Given the description of an element on the screen output the (x, y) to click on. 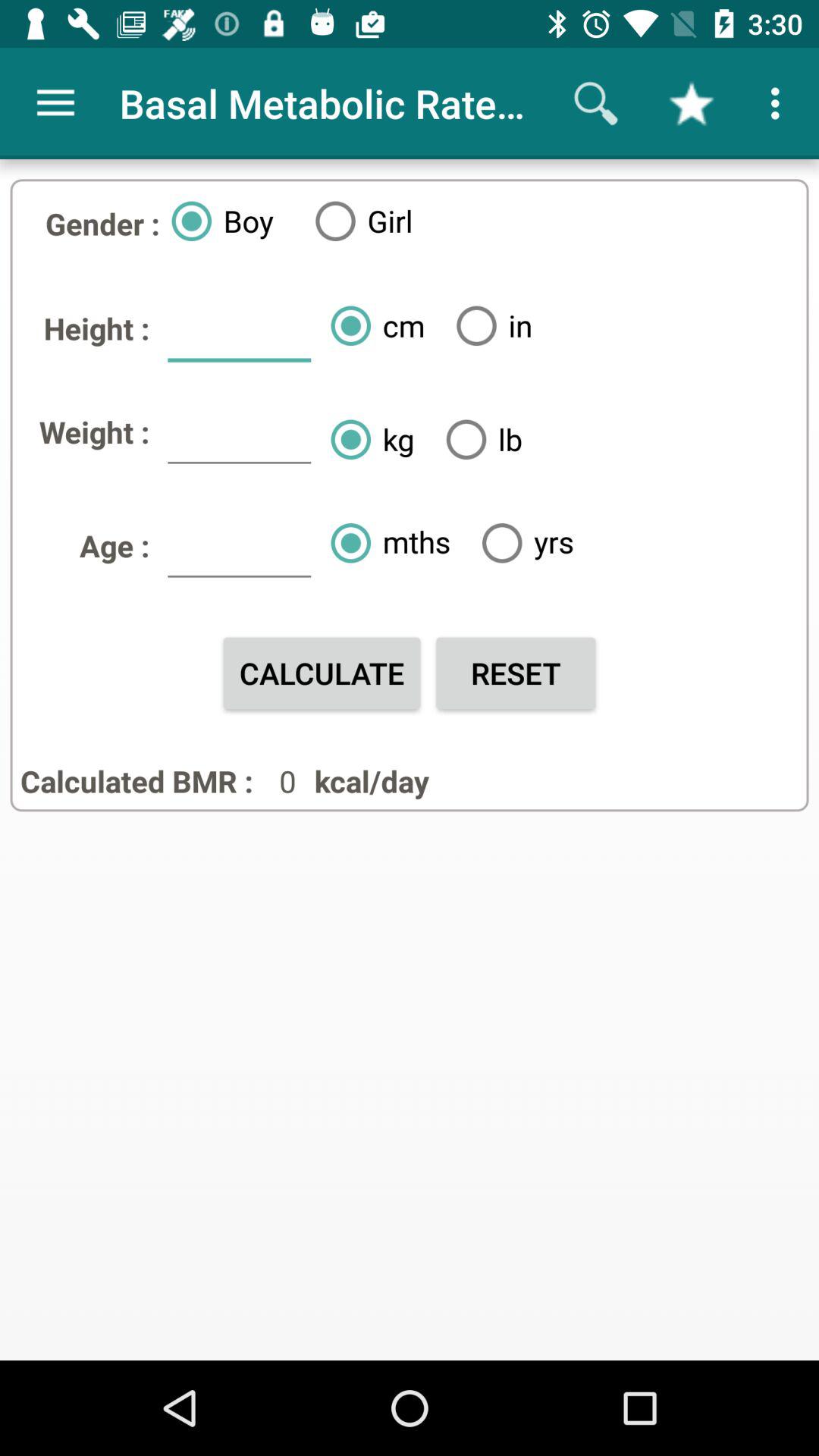
turn on icon above weight : icon (239, 334)
